Given the description of an element on the screen output the (x, y) to click on. 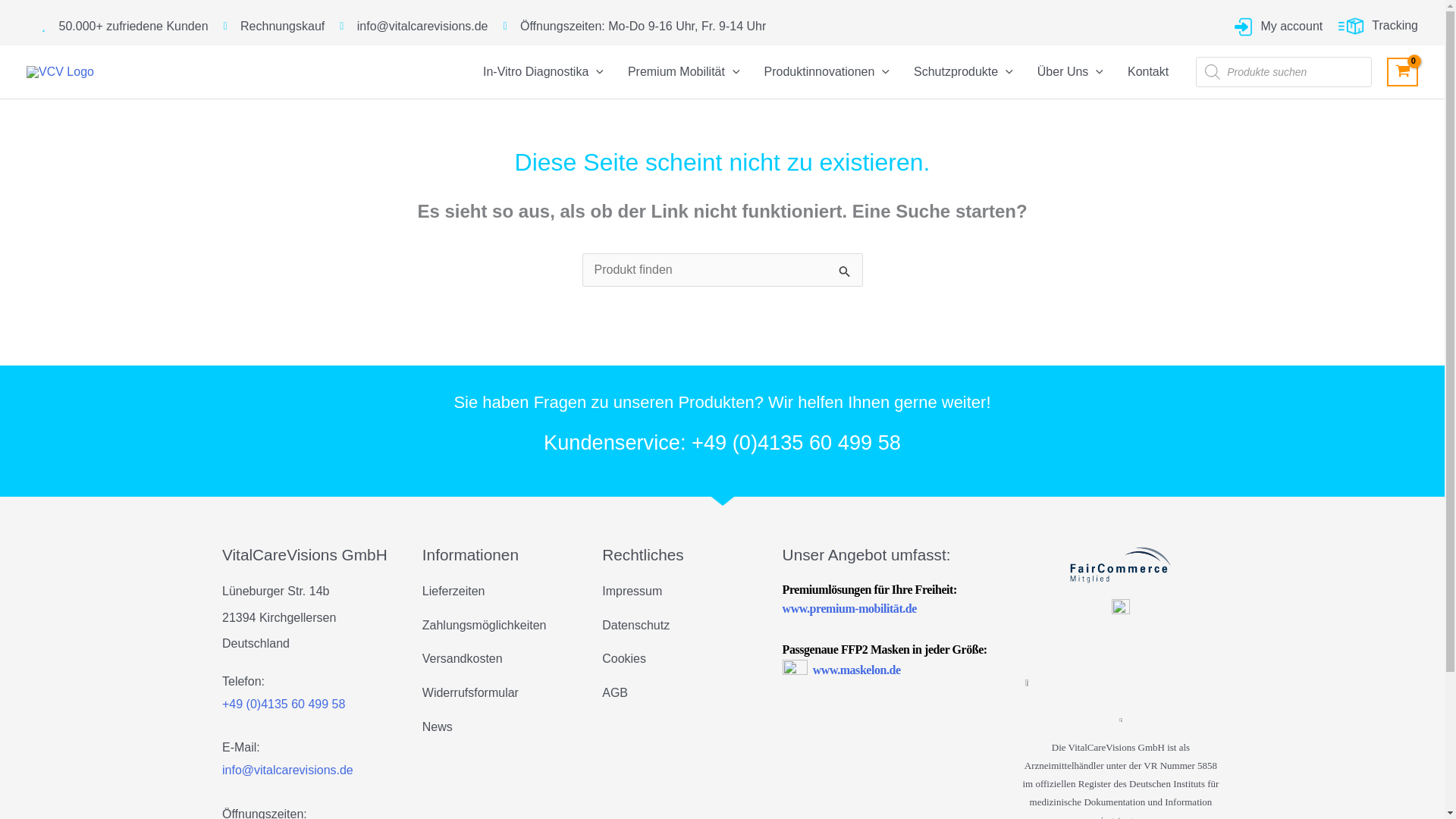
In-Vitro Diagnostika (542, 71)
Kontakt (1147, 71)
Schutzprodukte (963, 71)
My account (1277, 25)
Produktinnovationen (826, 71)
Tracking (1378, 24)
